Given the description of an element on the screen output the (x, y) to click on. 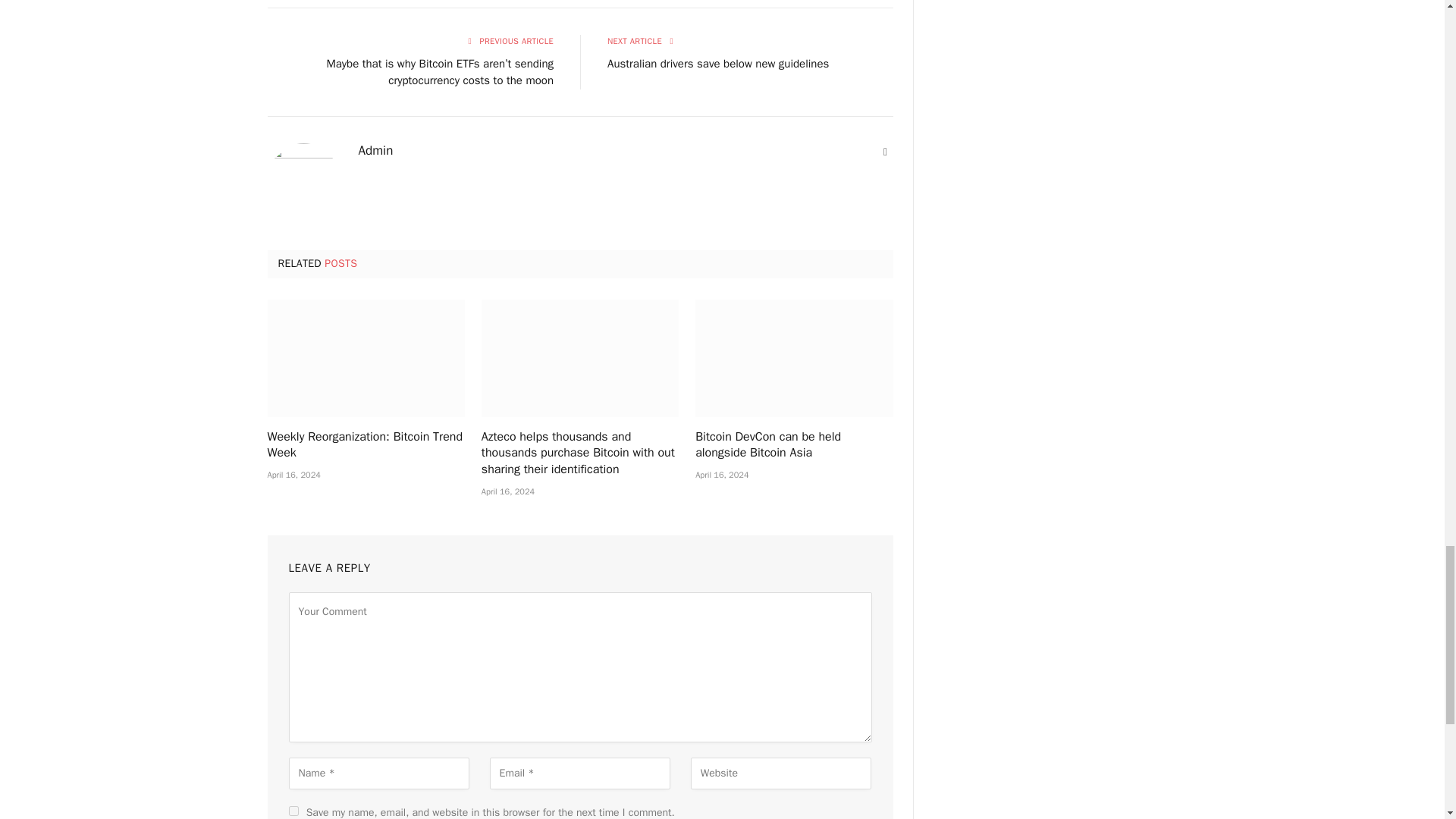
Bitcoin DevCon can be held alongside Bitcoin Asia (793, 357)
yes (293, 810)
Posts by Admin (375, 150)
Admin (375, 150)
Weekly Reorganization: Bitcoin Trend Week (365, 445)
Website (885, 151)
Website (885, 151)
Australian drivers save below new guidelines (717, 63)
Weekly Reorganization: Bitcoin Trend Week (365, 357)
